Given the description of an element on the screen output the (x, y) to click on. 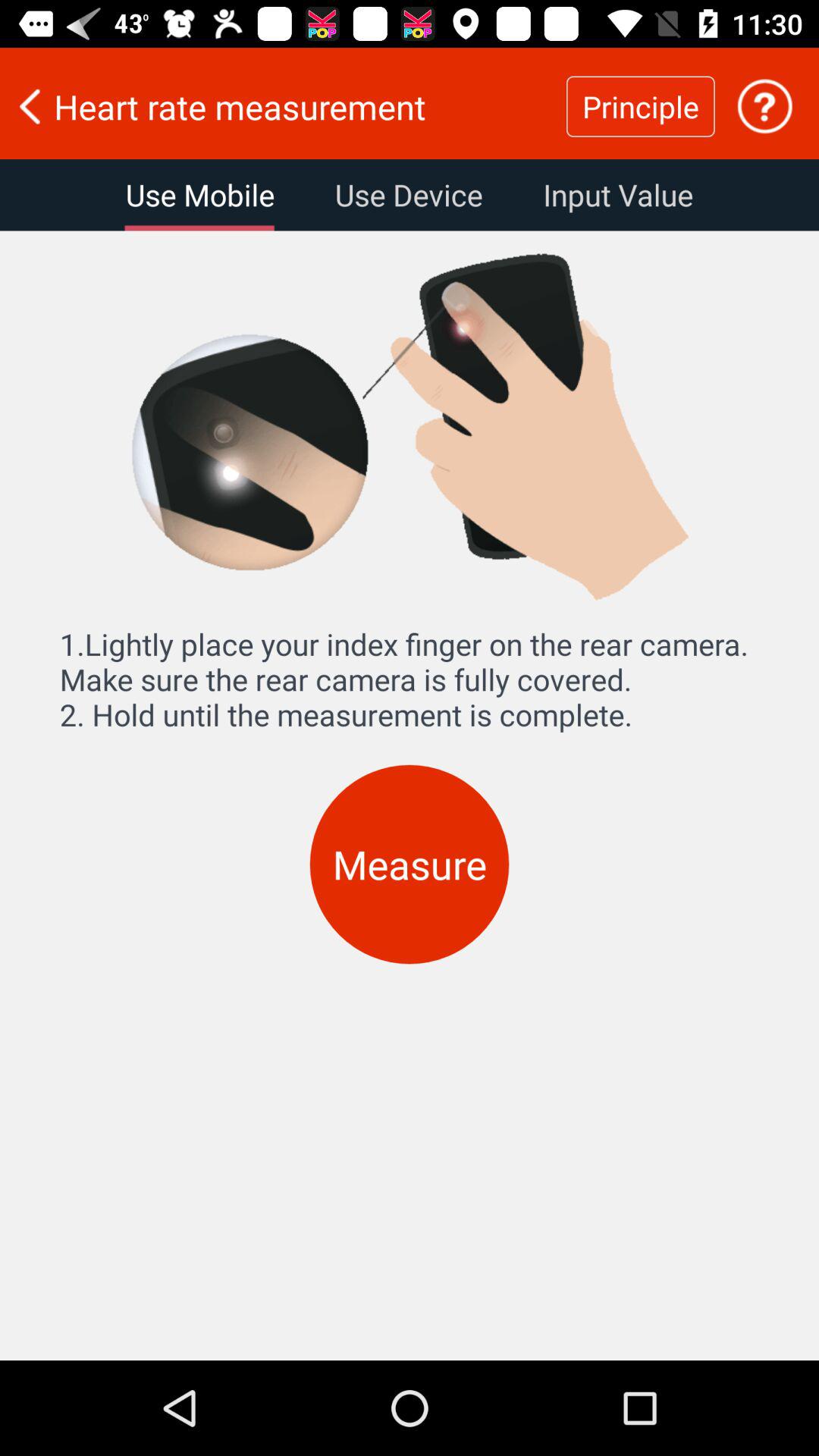
tap item below 1 lightly place (409, 864)
